Given the description of an element on the screen output the (x, y) to click on. 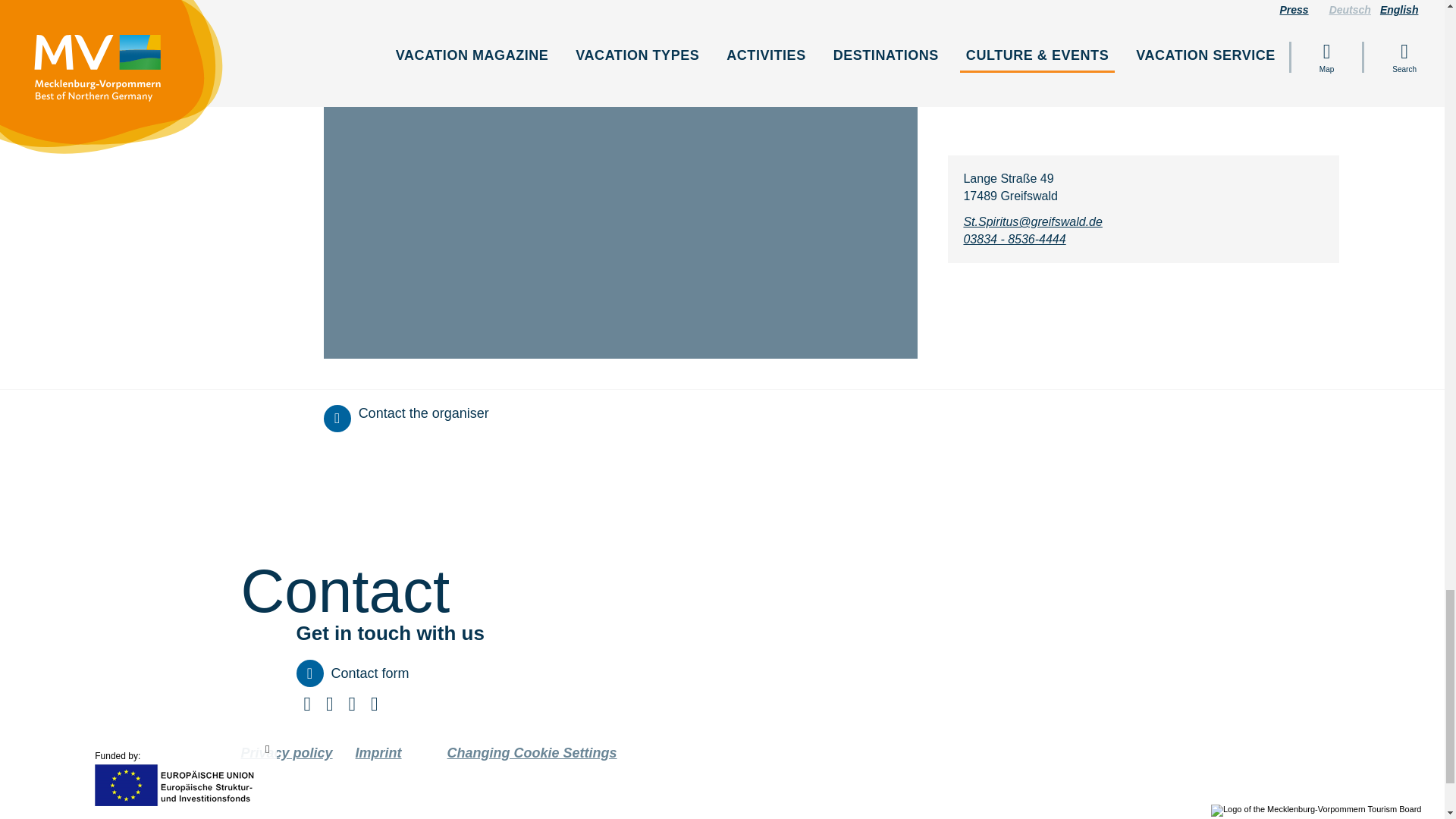
Mecklenburg-Vorpommern on Facebook (306, 706)
Mecklenburg-Vorpommern on Pinterest (329, 706)
Mecklenburg-Vorpommern on YouTube (352, 706)
Mecklenburg-Vorpommern on Instagram (373, 706)
